Given the description of an element on the screen output the (x, y) to click on. 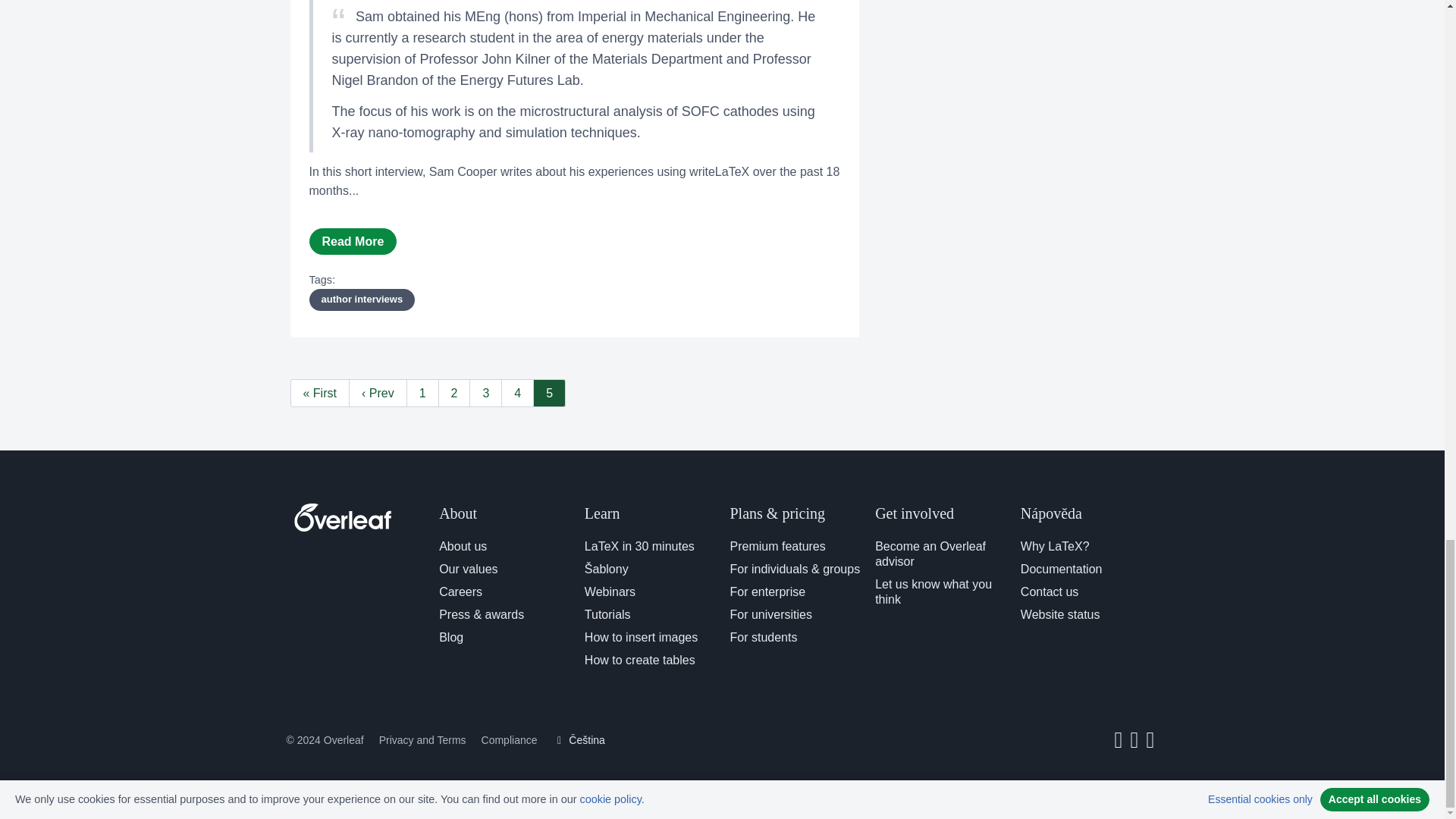
2 (454, 393)
3 (485, 393)
Read More (352, 241)
4 (517, 393)
1 (422, 393)
author interviews (361, 299)
